Given the description of an element on the screen output the (x, y) to click on. 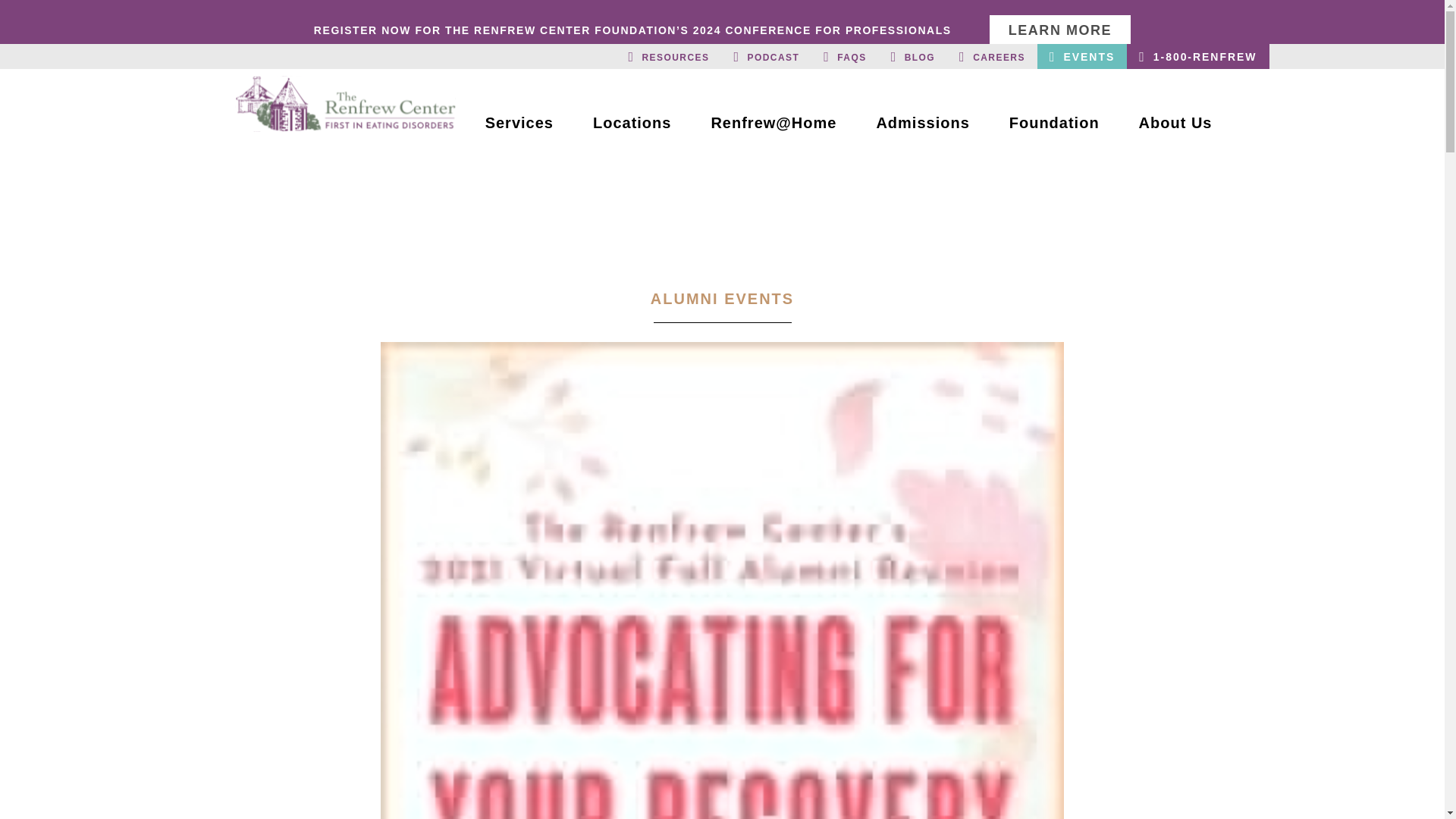
1-800-RENFREW (1197, 56)
FAQS (843, 56)
EVENTS (1081, 56)
Services (519, 128)
CAREERS (991, 56)
LEARN MORE (1060, 30)
BLOG (913, 56)
The Renfrew Center (344, 103)
RESOURCES (667, 56)
Locations (631, 128)
